Given the description of an element on the screen output the (x, y) to click on. 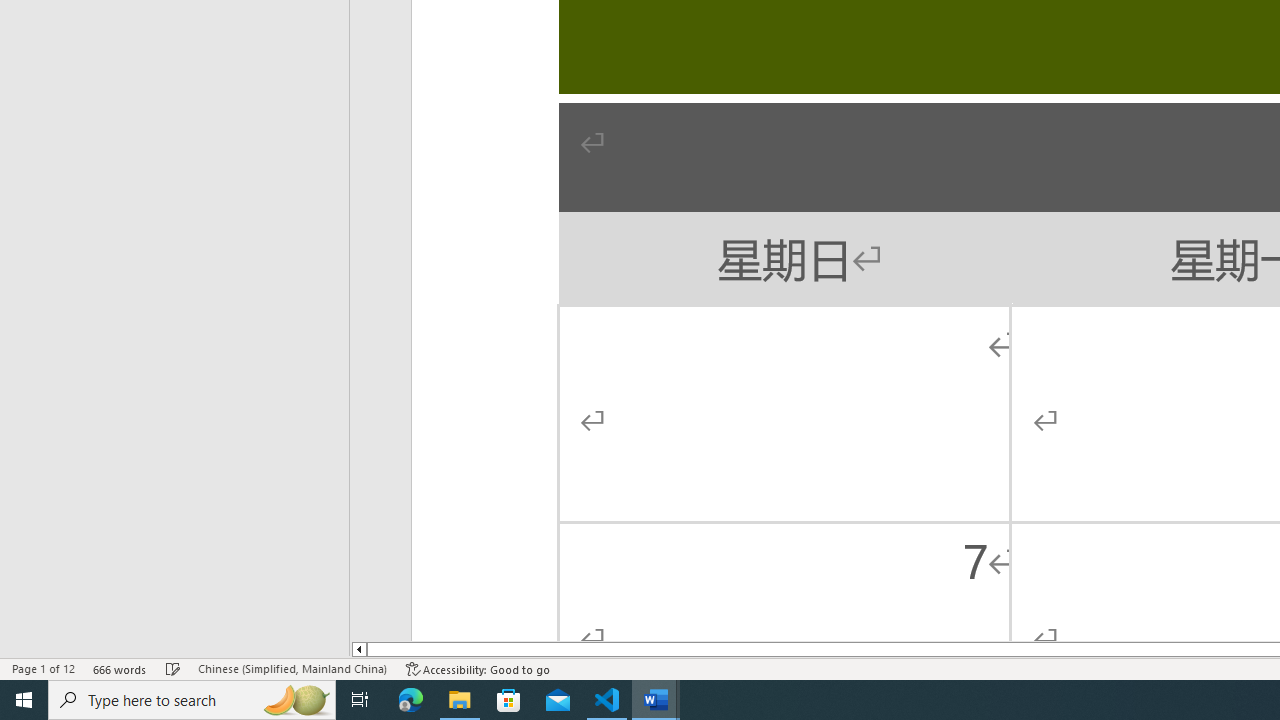
Accessibility Checker Accessibility: Good to go (478, 668)
Spelling and Grammar Check Checking (173, 668)
Word Count 666 words (119, 668)
Language Chinese (Simplified, Mainland China) (292, 668)
Column left (358, 649)
Page Number Page 1 of 12 (43, 668)
